Given the description of an element on the screen output the (x, y) to click on. 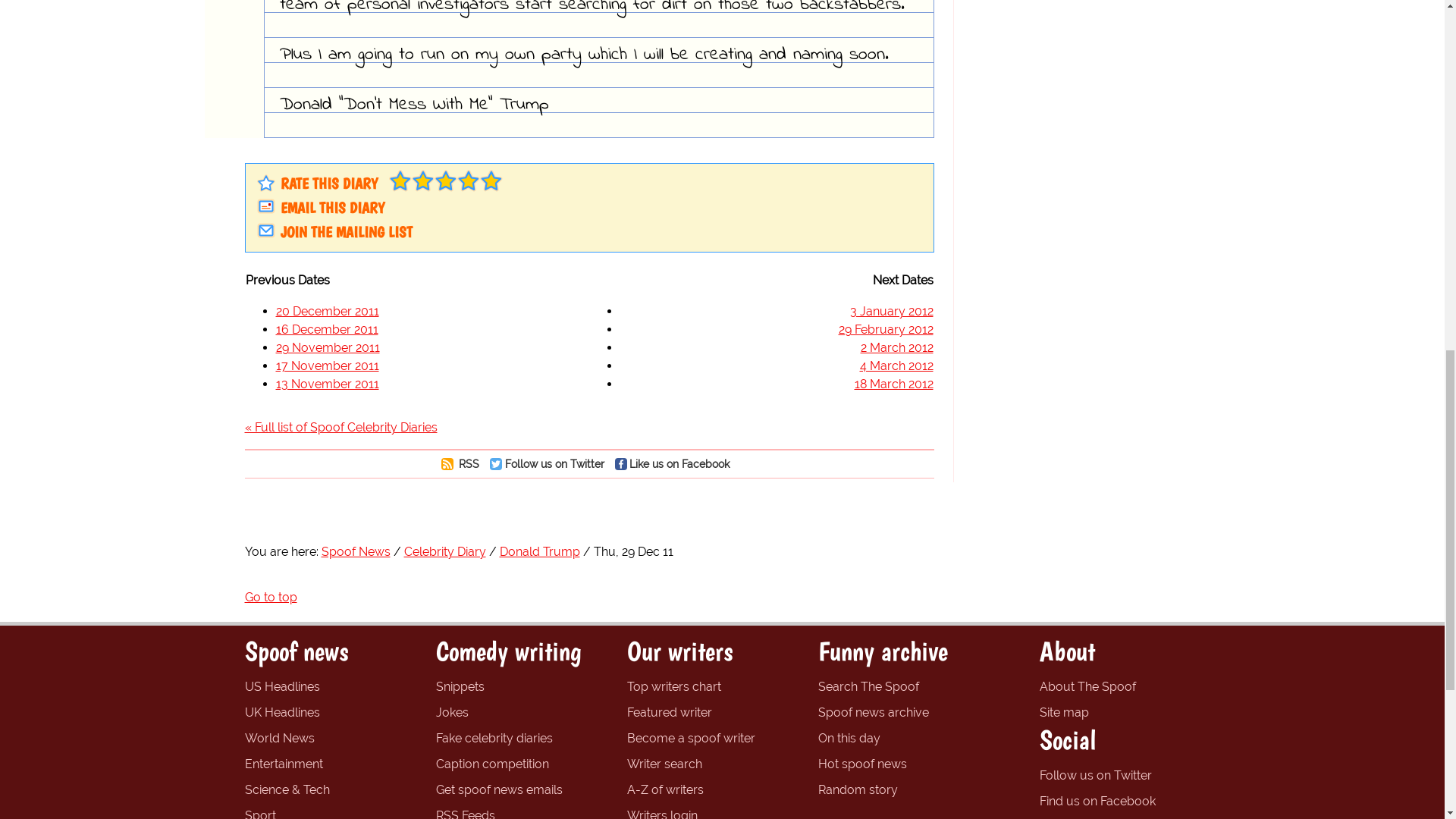
3 January 2012 (890, 310)
RSS (464, 463)
13 November 2011 (327, 383)
Like us on Facebook (676, 463)
16 December 2011 (327, 329)
20 December 2011 (327, 310)
Spoof News (355, 551)
Follow us on Twitter (550, 463)
2 March 2012 (896, 347)
Go to top (270, 596)
